Given the description of an element on the screen output the (x, y) to click on. 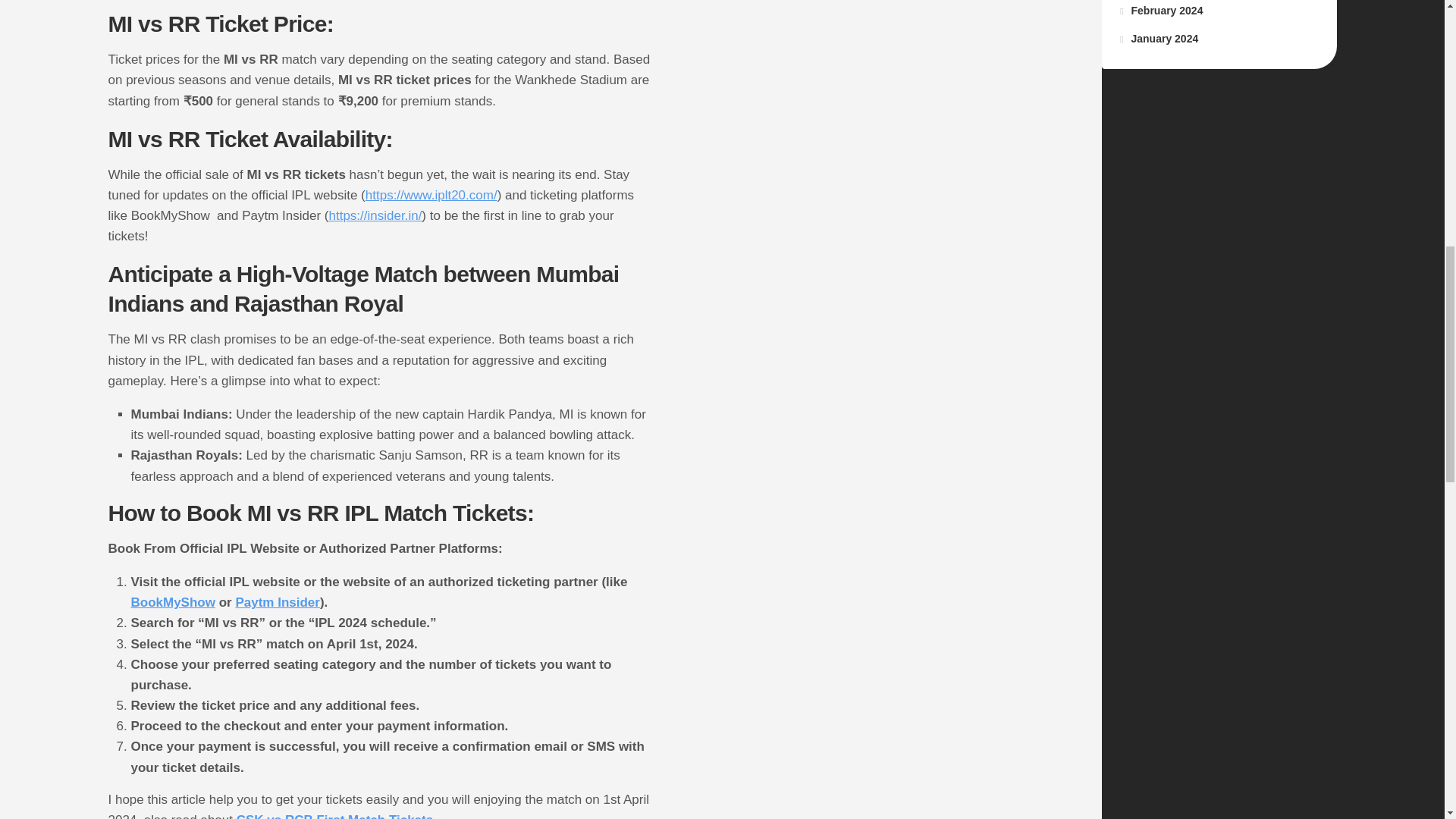
BookMyShow (172, 602)
CSK vs RCB First Match Tickets (333, 816)
Paytm Insider (277, 602)
